Given the description of an element on the screen output the (x, y) to click on. 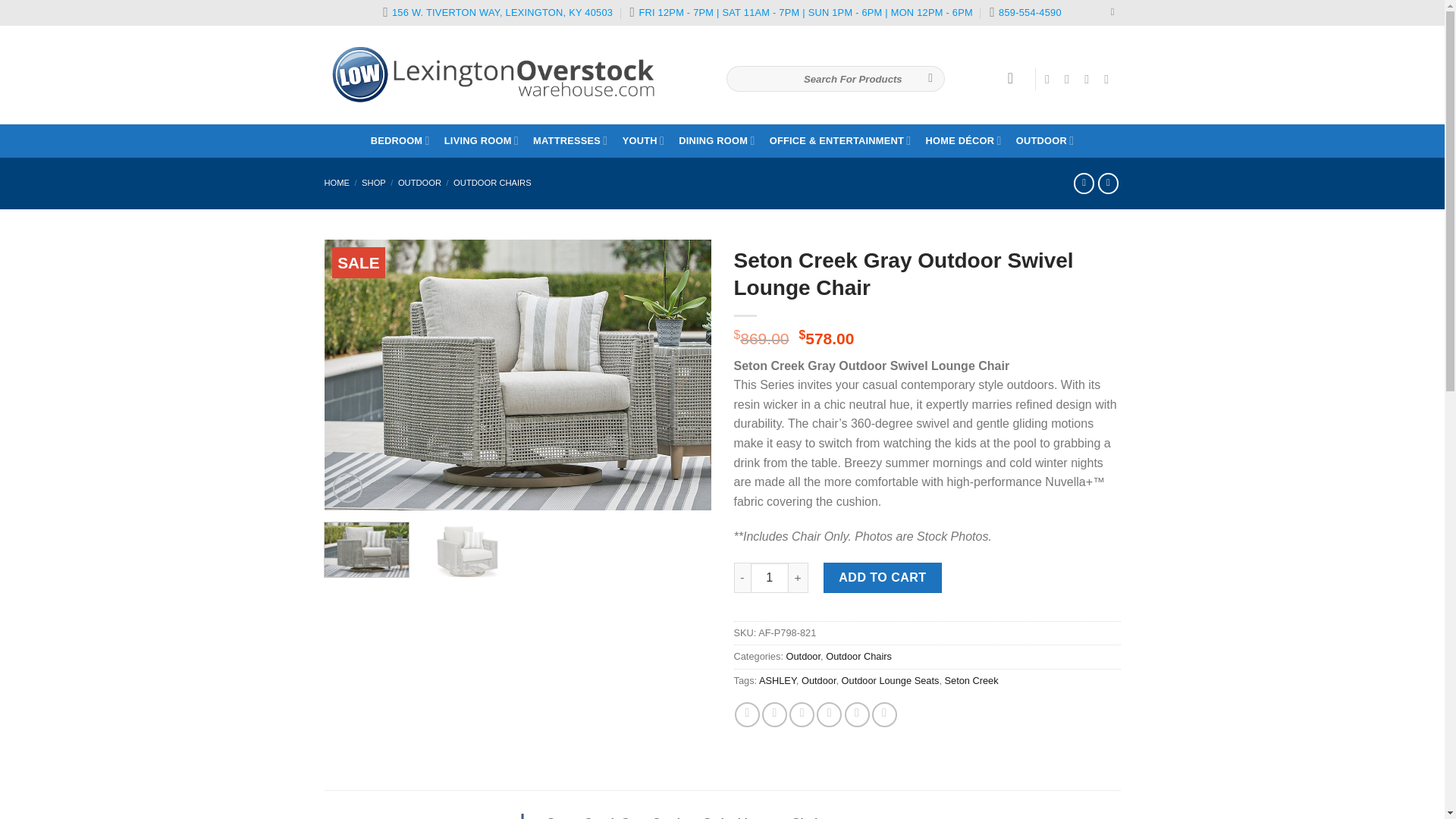
AF-P798-CHAIR (517, 374)
Cart (1015, 77)
Zoom (347, 487)
156 W. TIVERTON WAY, LEXINGTON, KY 40503 (497, 12)
156 W. Tiverton Way, Lexington, KY 40503 (497, 12)
1 (770, 577)
BEDROOM (399, 141)
Follow on Twitter (1090, 78)
859-554-4590 (1025, 12)
Follow on YouTube (1109, 78)
LIVING ROOM (480, 141)
859-554-4590 (1025, 12)
AF-P798-CHAIR-ALT1 (904, 374)
Qty (770, 577)
